Given the description of an element on the screen output the (x, y) to click on. 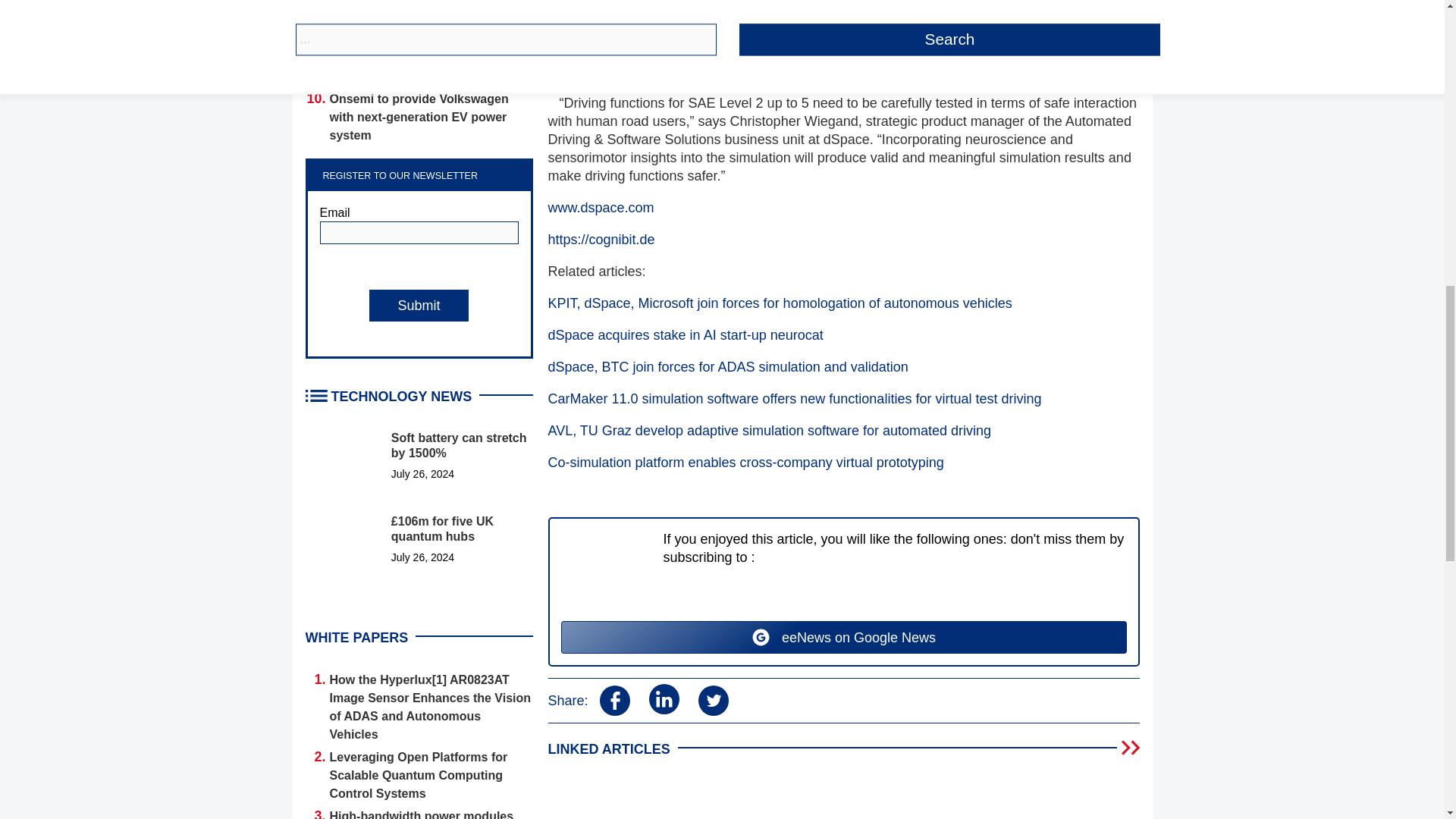
Submit (418, 305)
